Given the description of an element on the screen output the (x, y) to click on. 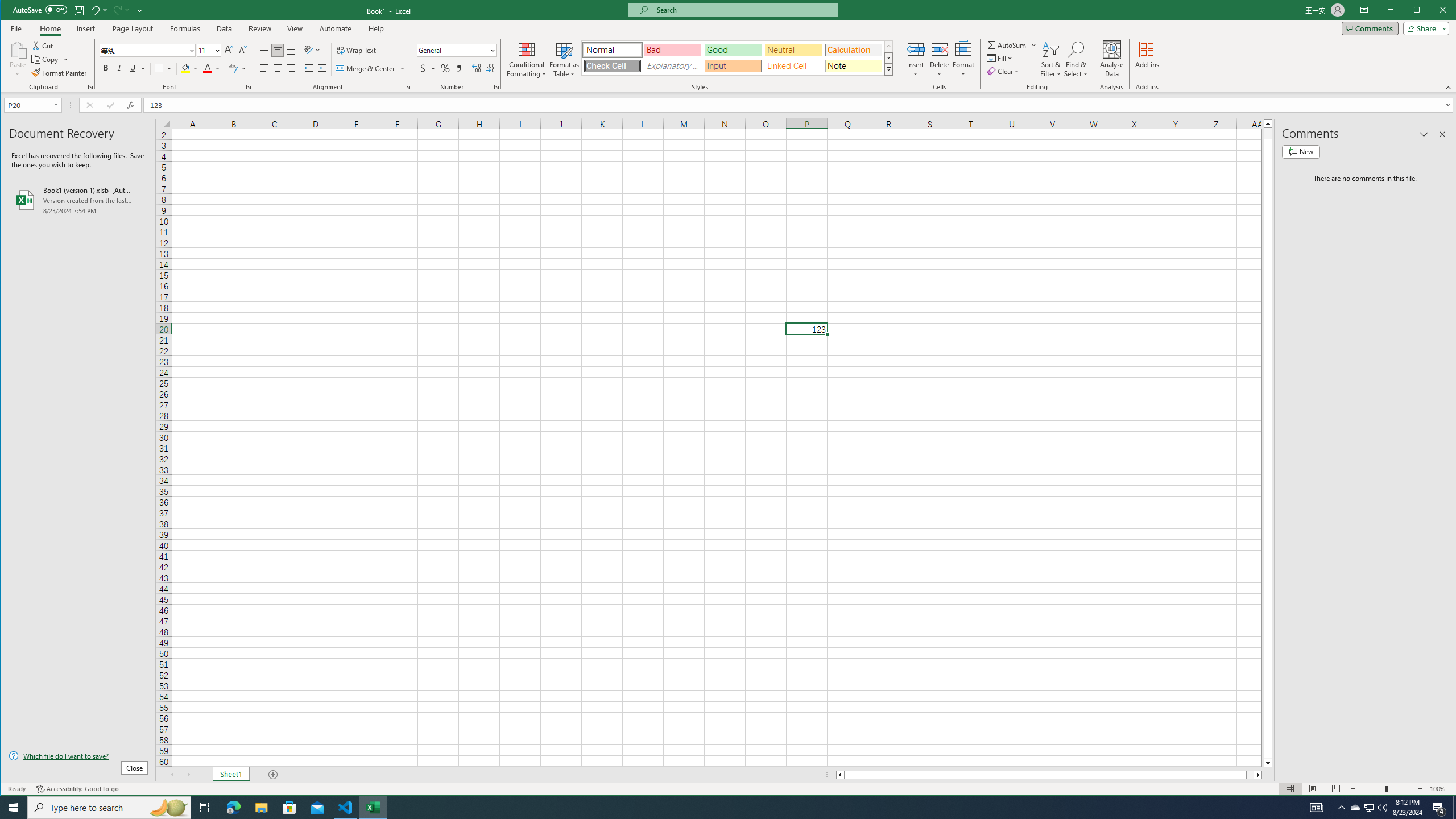
Insert Cells (915, 48)
Font Color RGB(255, 0, 0) (207, 68)
Font (147, 49)
Search highlights icon opens search home window (167, 807)
Task View (204, 807)
Cut (42, 45)
File Explorer (261, 807)
Find & Select (1075, 59)
Borders (163, 68)
